Given the description of an element on the screen output the (x, y) to click on. 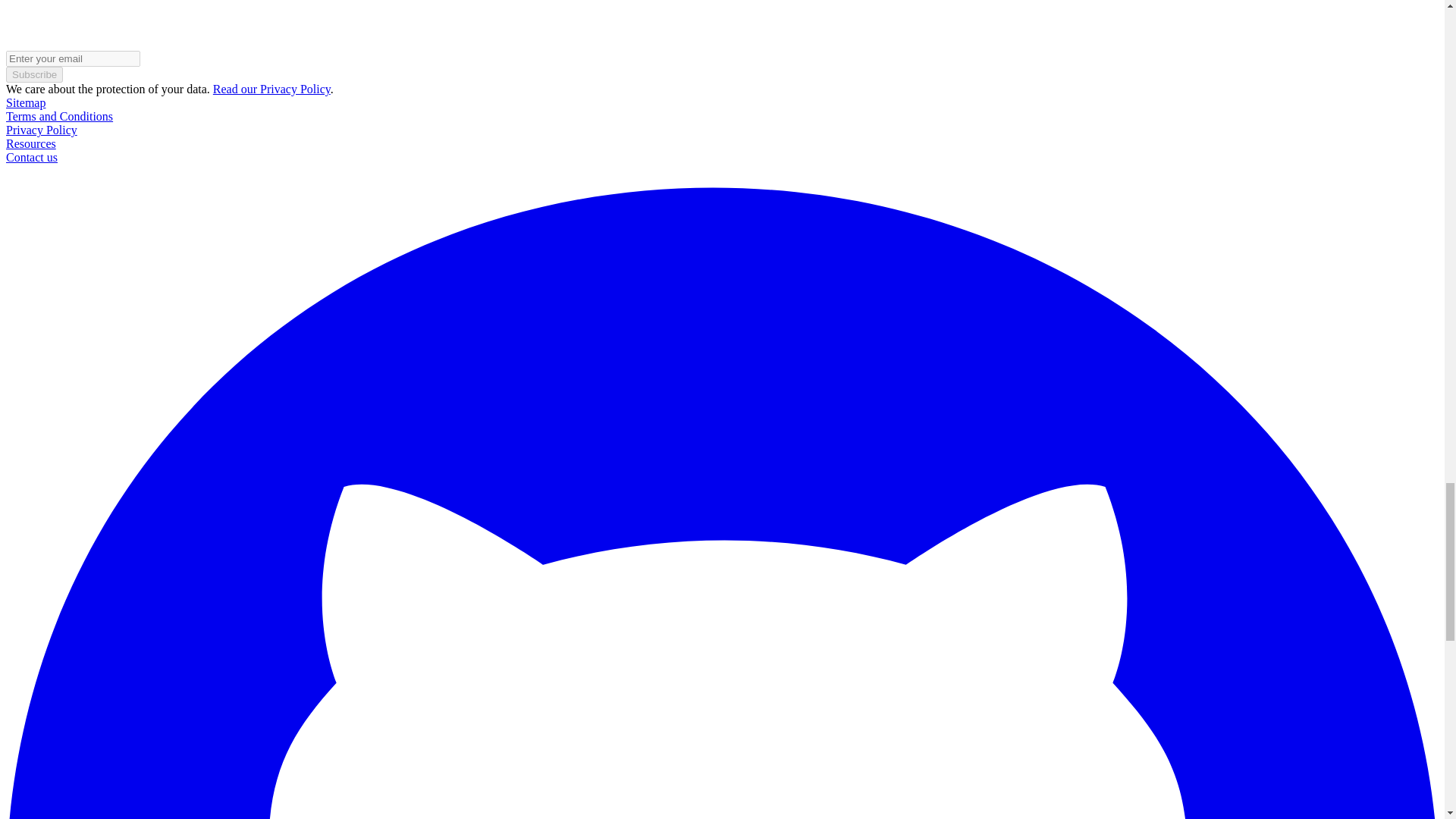
Subscribe (33, 74)
Privacy Policy (41, 129)
Terms and Conditions (59, 115)
Contact us (31, 156)
Sitemap (25, 102)
Read our Privacy Policy (271, 88)
Resources (30, 143)
